Given the description of an element on the screen output the (x, y) to click on. 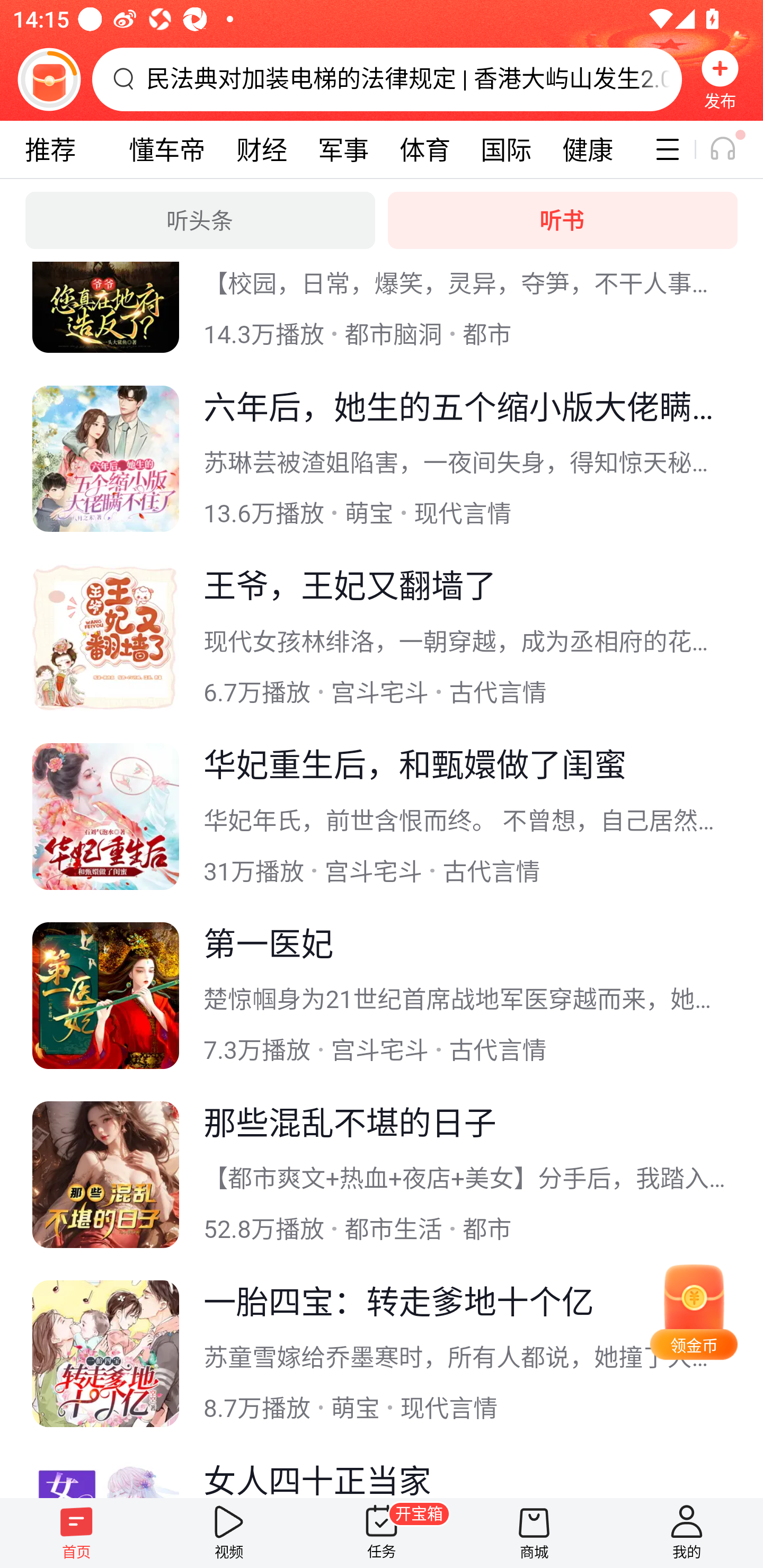
阅读赚金币 (48, 79)
发布 发布，按钮 (720, 78)
推荐 (49, 149)
懂车帝 (166, 149)
财经 (261, 149)
军事 (342, 149)
体育 (424, 149)
国际 (505, 149)
健康 (587, 149)
听一听开关 (732, 149)
听头条 (200, 220)
听书 (562, 220)
首页 (76, 1532)
视频 (228, 1532)
任务 开宝箱 (381, 1532)
商城 (533, 1532)
我的 (686, 1532)
